Given the description of an element on the screen output the (x, y) to click on. 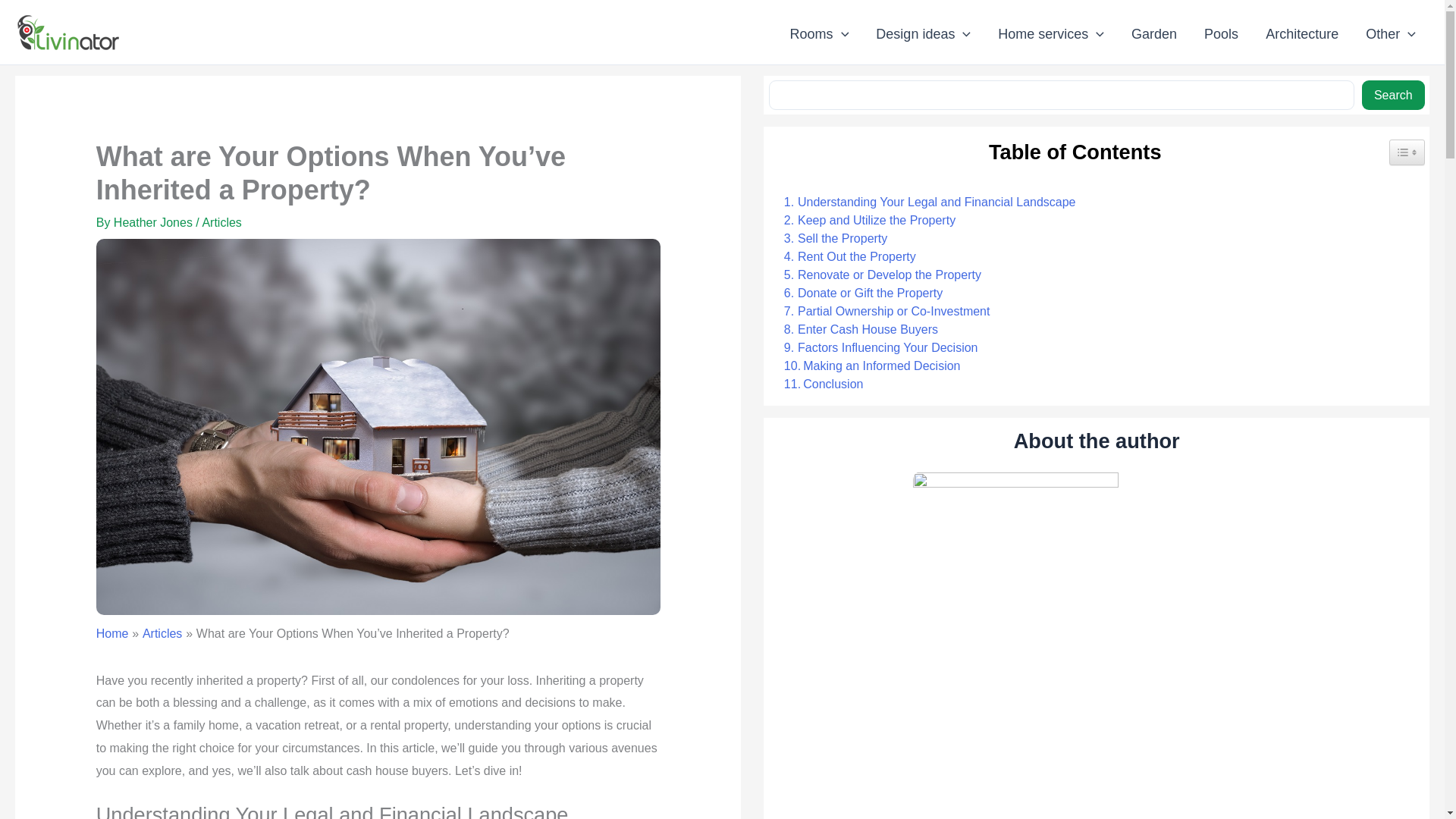
Understanding Your Legal and Financial Landscape (925, 202)
Renovate or Develop the Property (878, 275)
Partial Ownership or Co-Investment (883, 311)
Making an Informed Decision (868, 366)
Architecture (1302, 34)
Home services (1051, 34)
Design ideas (922, 34)
Factors Influencing Your Decision (877, 348)
Rooms (819, 34)
Sell the Property (831, 239)
Pools (1221, 34)
Keep and Utilize the Property (865, 220)
View all posts by Heather Jones (154, 222)
Other (1390, 34)
Donate or Gift the Property (859, 293)
